Given the description of an element on the screen output the (x, y) to click on. 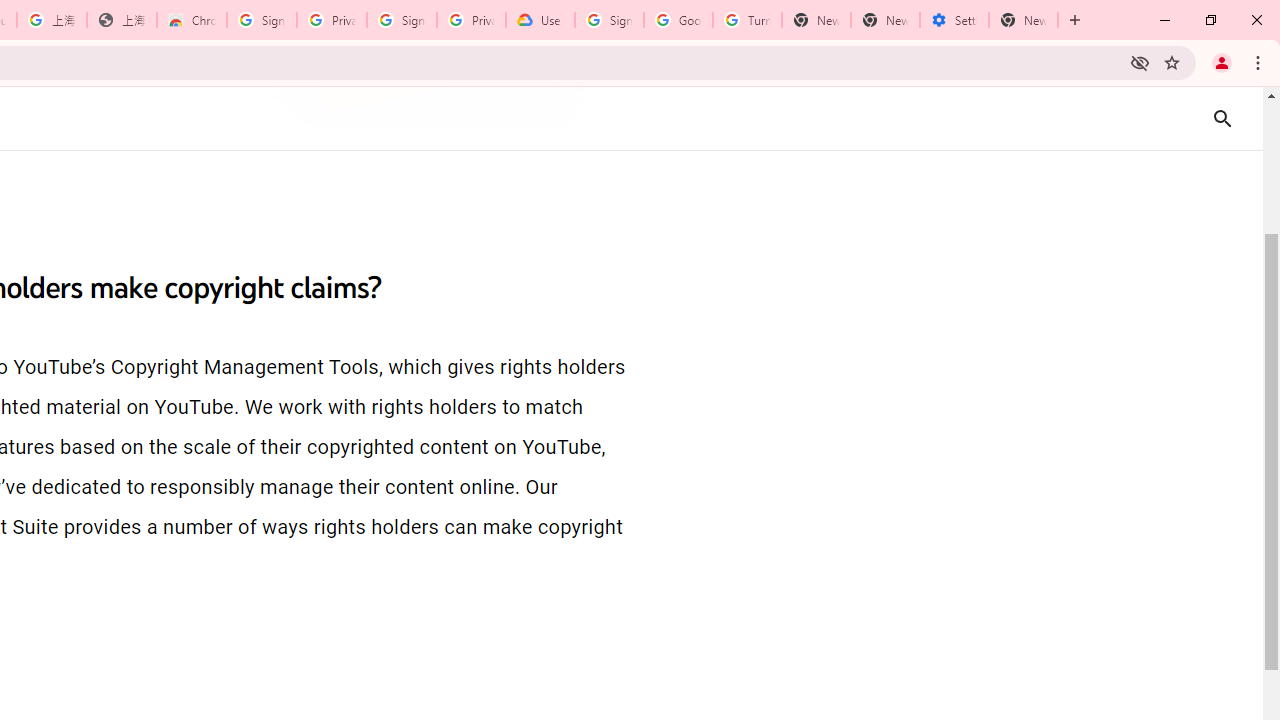
Sign in - Google Accounts (401, 20)
Settings - System (954, 20)
